Given the description of an element on the screen output the (x, y) to click on. 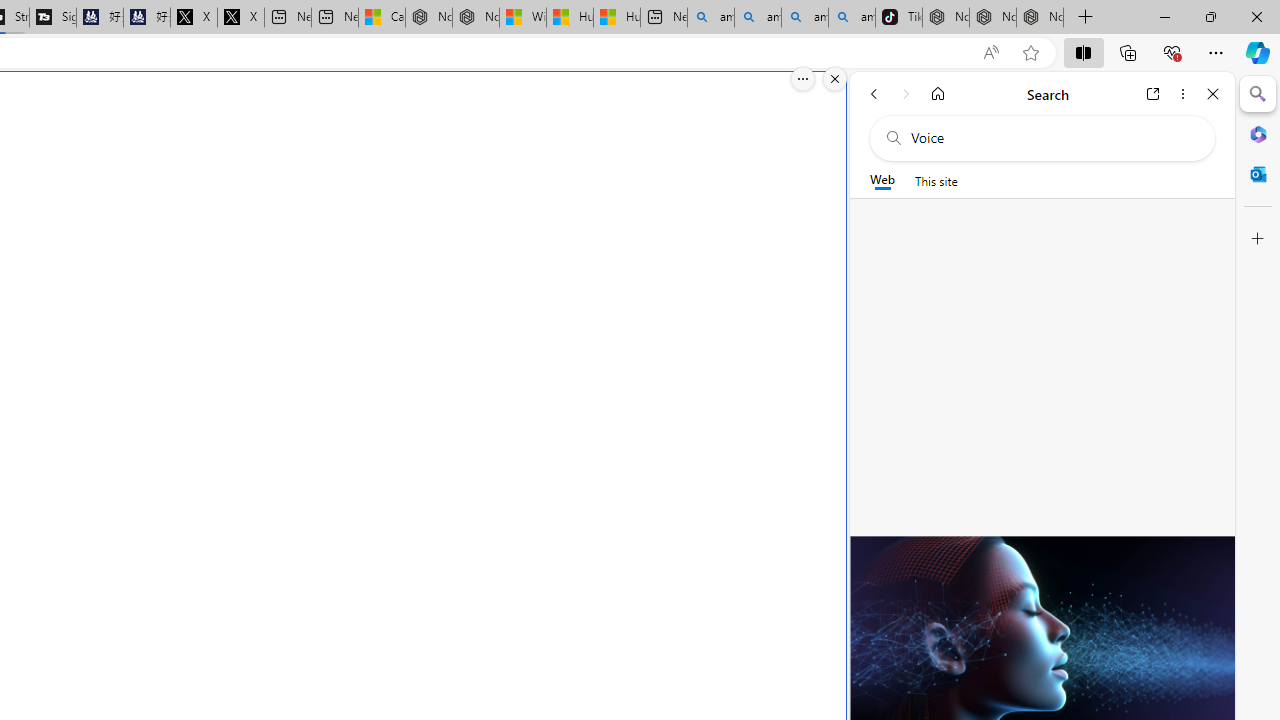
Huge shark washes ashore at New York City beach | Watch (616, 17)
Home (938, 93)
Open link in new tab (1153, 93)
Microsoft 365 (1258, 133)
Forward (906, 93)
amazon - Search (757, 17)
